Given the description of an element on the screen output the (x, y) to click on. 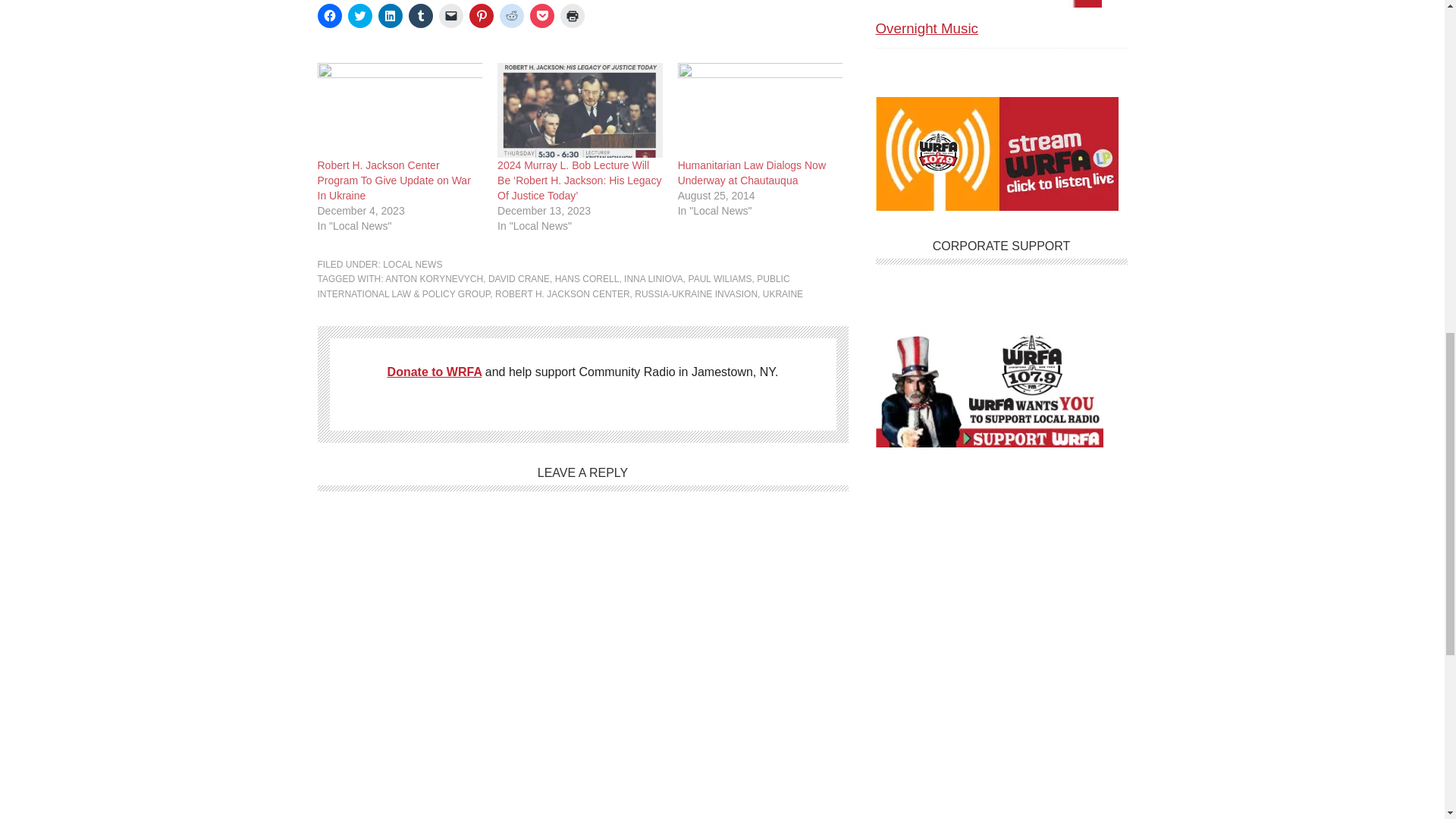
Click to email a link to a friend (450, 15)
Click to share on Twitter (359, 15)
Click to share on Facebook (328, 15)
Click to share on Reddit (510, 15)
Click to print (571, 15)
Click to share on Pocket (541, 15)
Click to share on Tumblr (419, 15)
Click to share on Pinterest (480, 15)
Click to share on LinkedIn (389, 15)
